Given the description of an element on the screen output the (x, y) to click on. 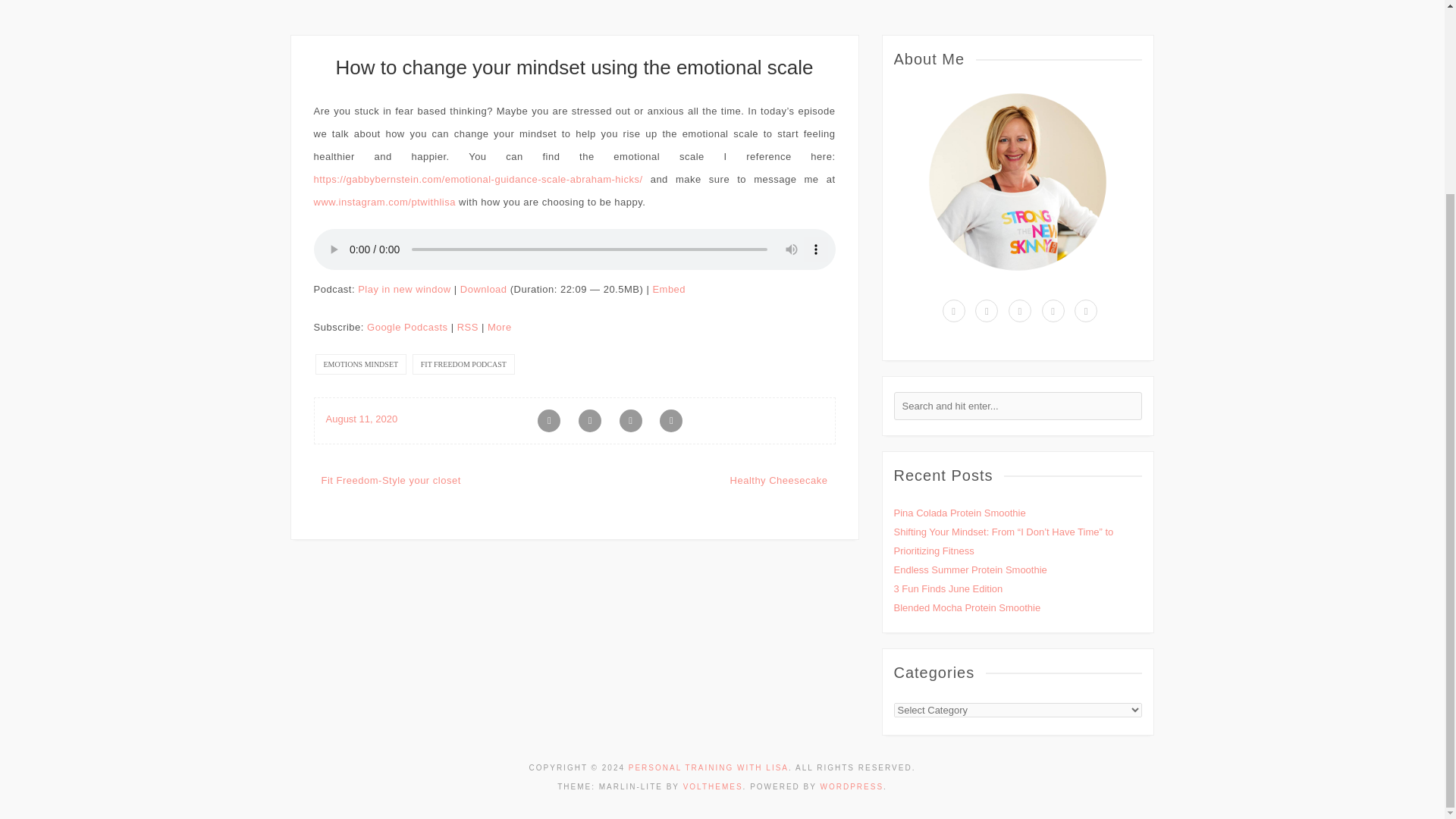
FIT FREEDOM PODCAST (463, 363)
Fit Freedom-Style your closet (391, 480)
Embed (668, 288)
Healthy Cheesecake (779, 480)
More (499, 326)
Download (483, 288)
Pina Colada Protein Smoothie (959, 512)
Play in new window (403, 288)
RSS (468, 326)
August 11, 2020 (361, 419)
Download (483, 288)
Embed (668, 288)
Google Podcasts (407, 326)
Play in new window (403, 288)
Endless Summer Protein Smoothie (969, 569)
